Given the description of an element on the screen output the (x, y) to click on. 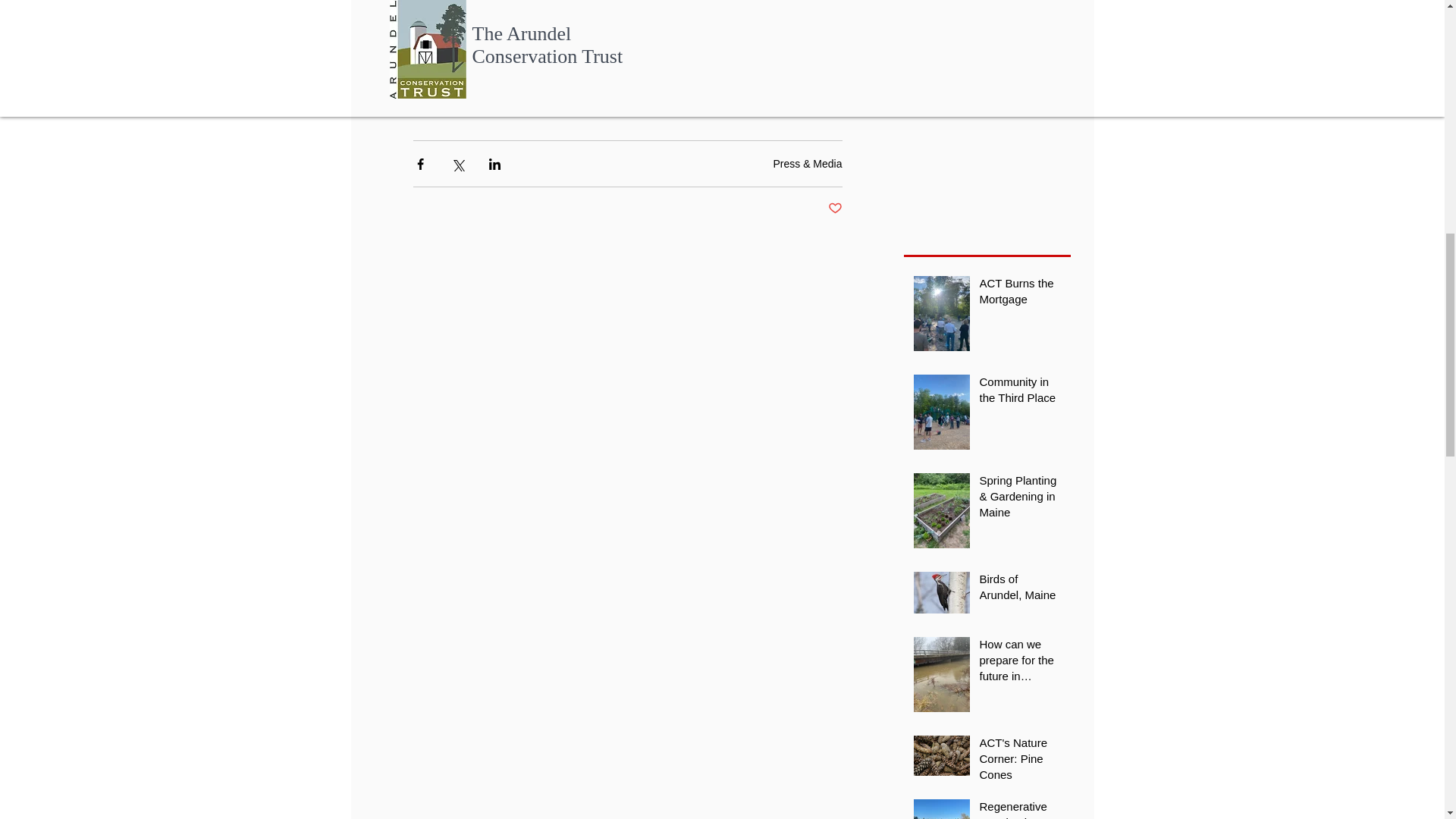
Community in the Third Place (1020, 392)
How can we prepare for the future in Arundel, ME? (1020, 663)
Regenerative Farming in Arundel, Maine (1020, 808)
ACT Burns the Mortgage (1020, 293)
ACT's Nature Corner: Pine Cones (1020, 761)
here (657, 59)
Birds of Arundel, Maine (1020, 589)
Post not marked as liked (835, 208)
